Given the description of an element on the screen output the (x, y) to click on. 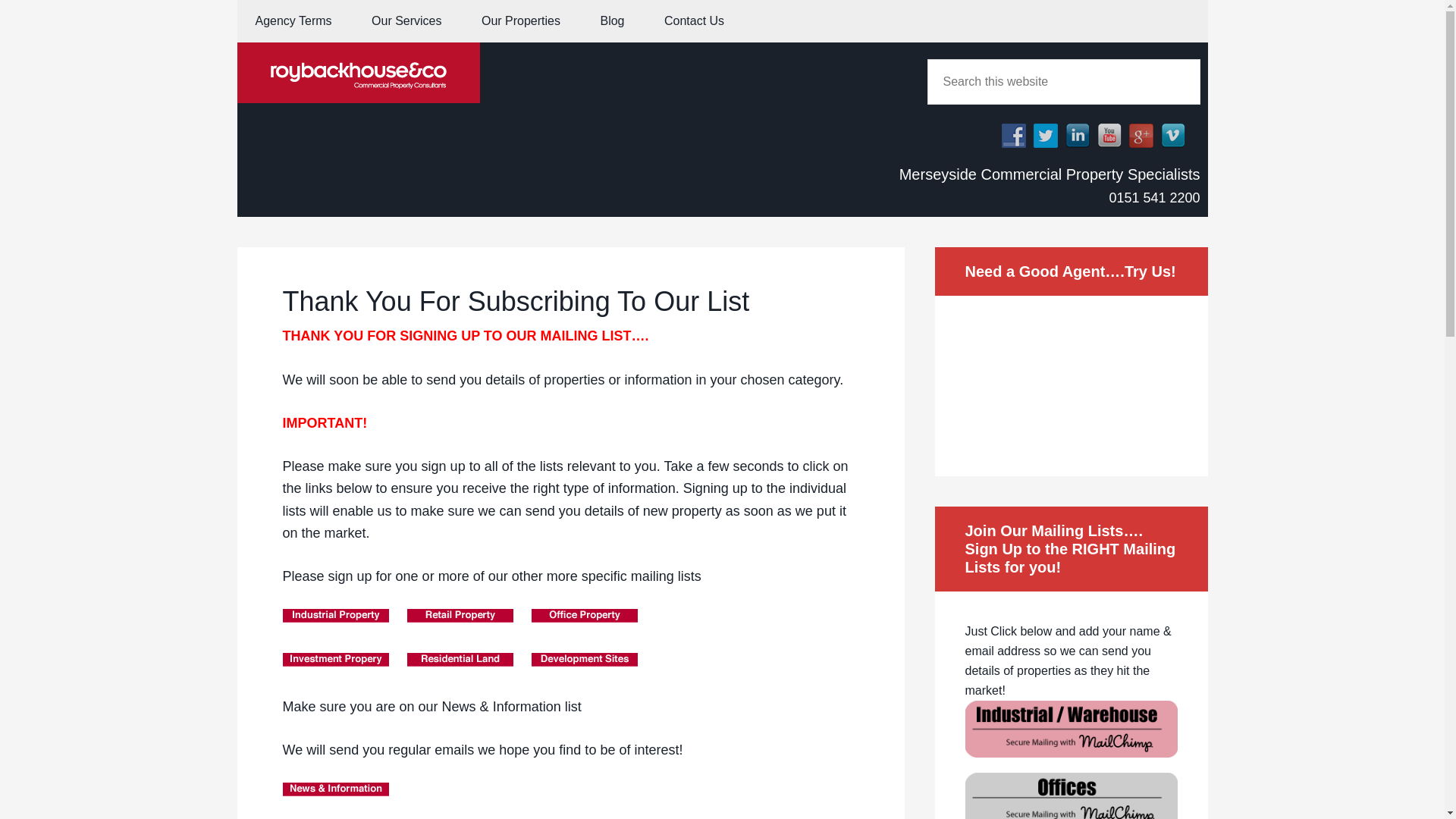
Our Properties (520, 21)
Follow Us on YouTube (1105, 135)
Contact Us (694, 21)
Follow Us on LinkedIn (1076, 135)
offices-icon-red (1069, 796)
Follow Us on Facebook (1013, 135)
Follow Us on Twitter (1044, 135)
Follow Us on Facebook (1008, 135)
Follow Us on YouTube (1108, 135)
Follow Us on LinkedIn (1073, 135)
offices-icon-red (1069, 762)
Follow Us on Vimeo (1172, 135)
Agency Terms (292, 21)
